Given the description of an element on the screen output the (x, y) to click on. 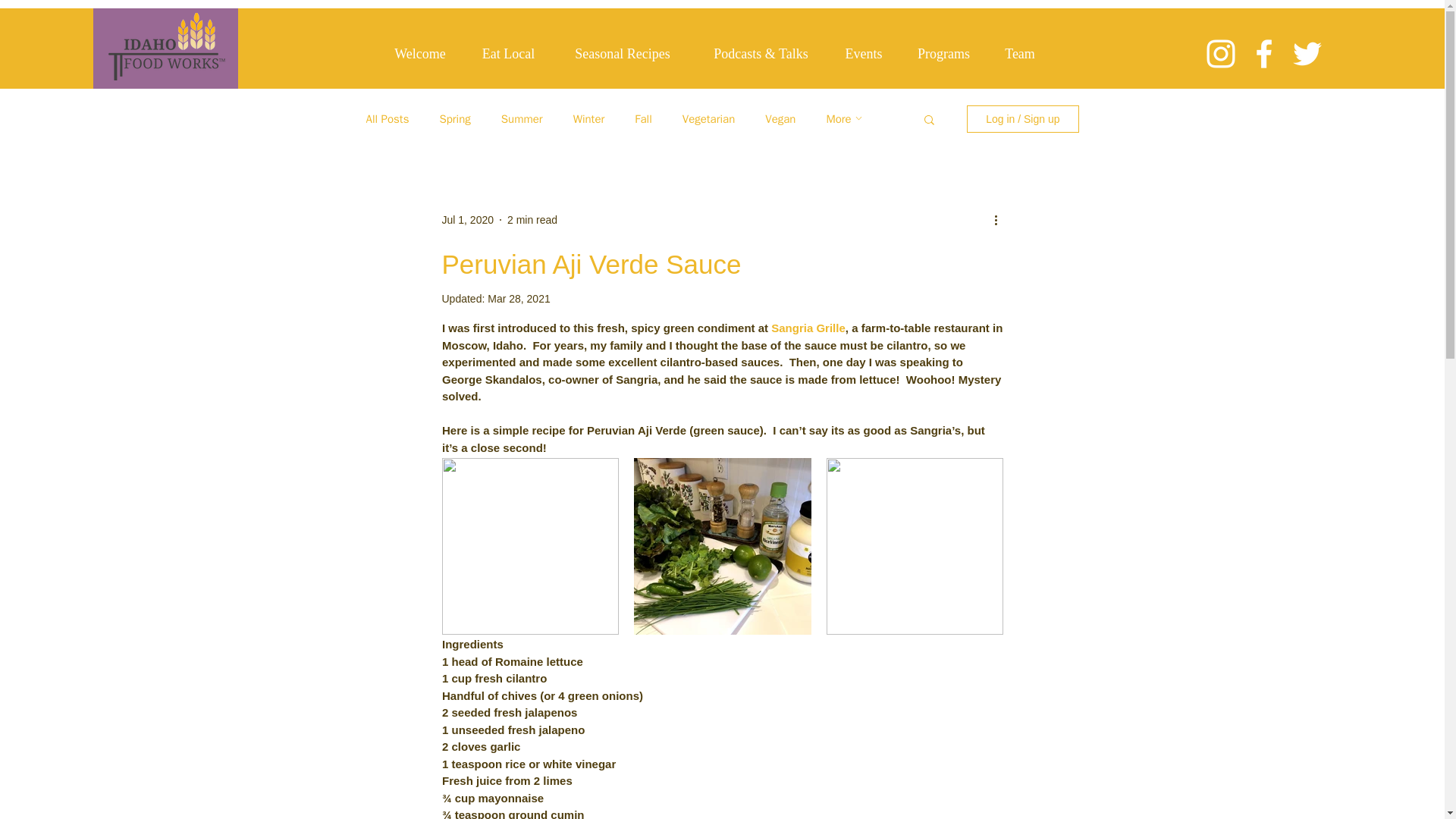
Eat Local (507, 53)
Programs (943, 53)
Events (863, 53)
Seasonal Recipes (622, 53)
Jul 1, 2020 (467, 219)
Spring (454, 119)
Welcome (419, 53)
2 min read (531, 219)
All Posts (387, 119)
Team (1018, 53)
Fall (642, 119)
Winter (589, 119)
Mar 28, 2021 (518, 298)
Summer (521, 119)
